Given the description of an element on the screen output the (x, y) to click on. 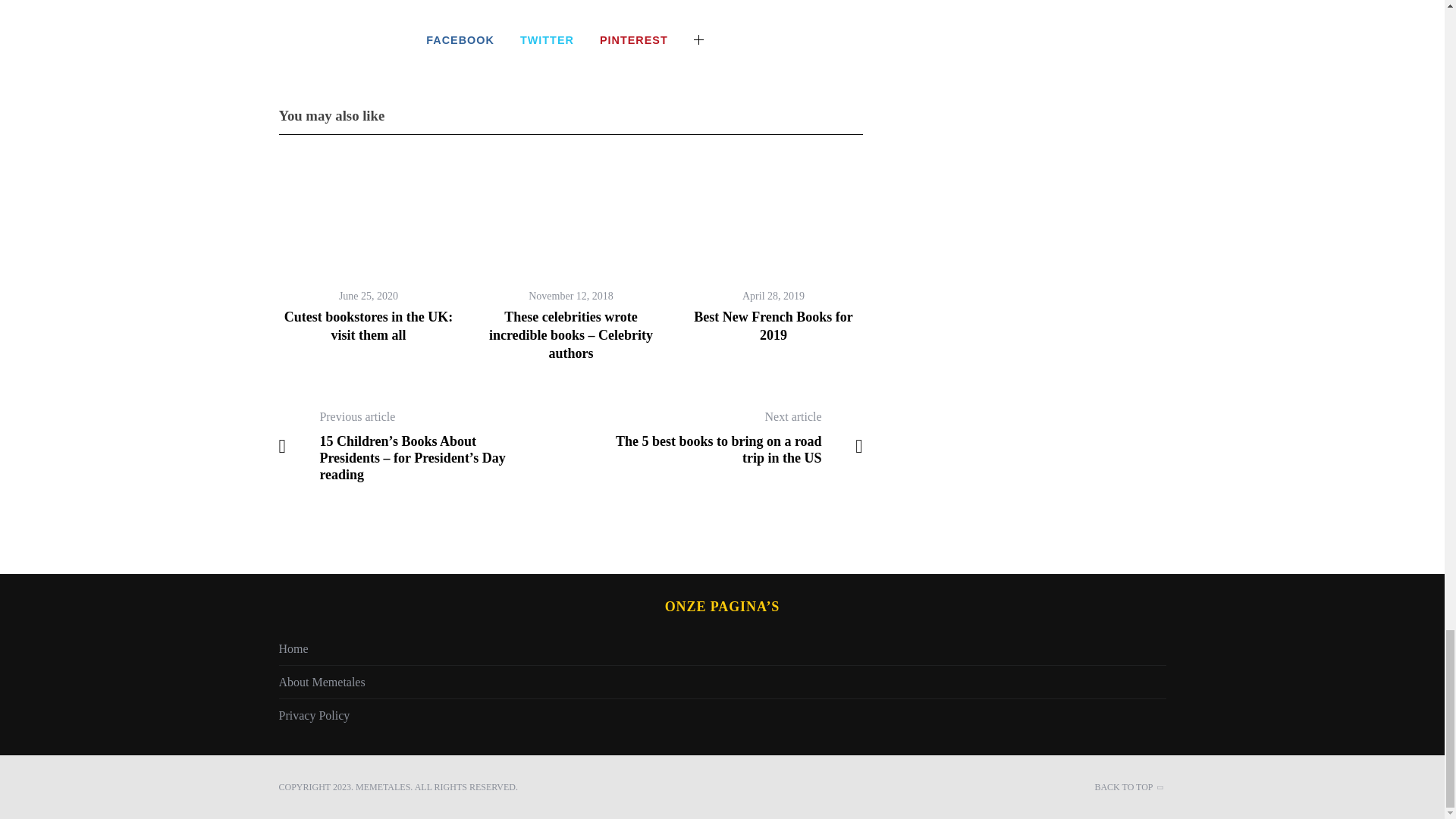
TWITTER (546, 39)
FACEBOOK (460, 39)
Best New French Books for 2019 (773, 326)
Cutest bookstores in the UK: visit them all (367, 326)
PINTEREST (633, 39)
